Given the description of an element on the screen output the (x, y) to click on. 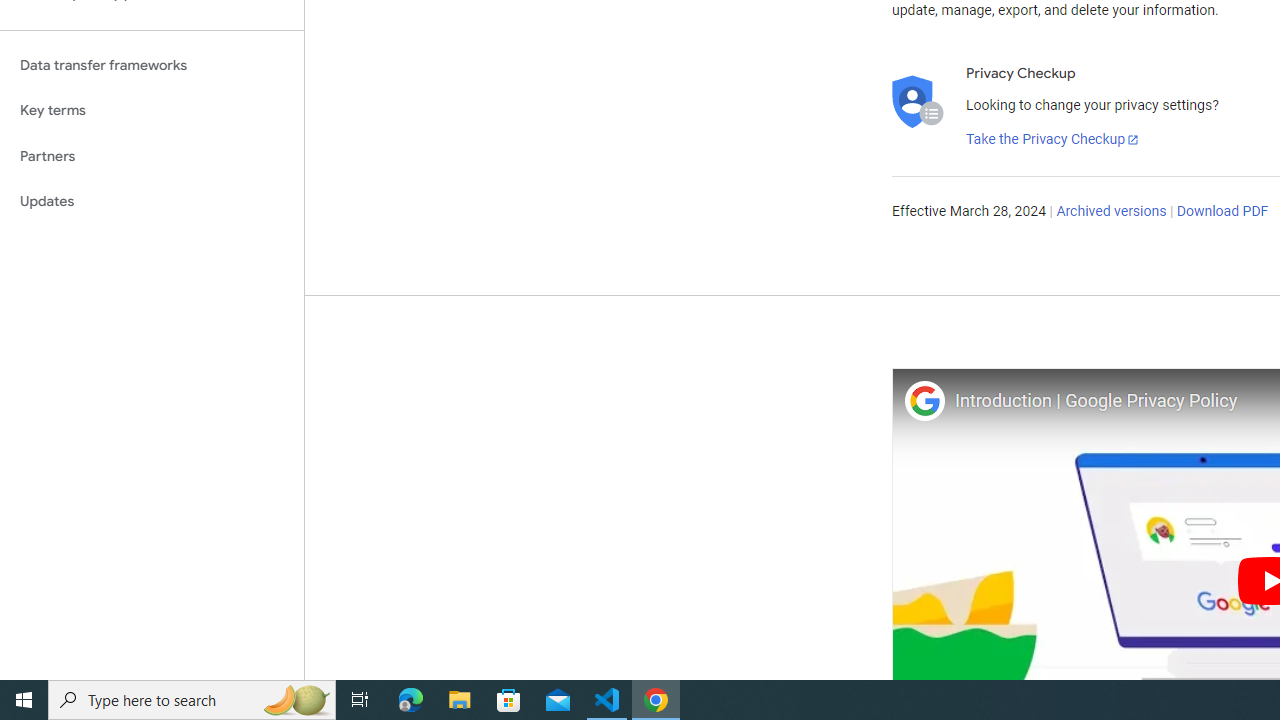
Photo image of Google (924, 400)
Take the Privacy Checkup (1053, 140)
